Given the description of an element on the screen output the (x, y) to click on. 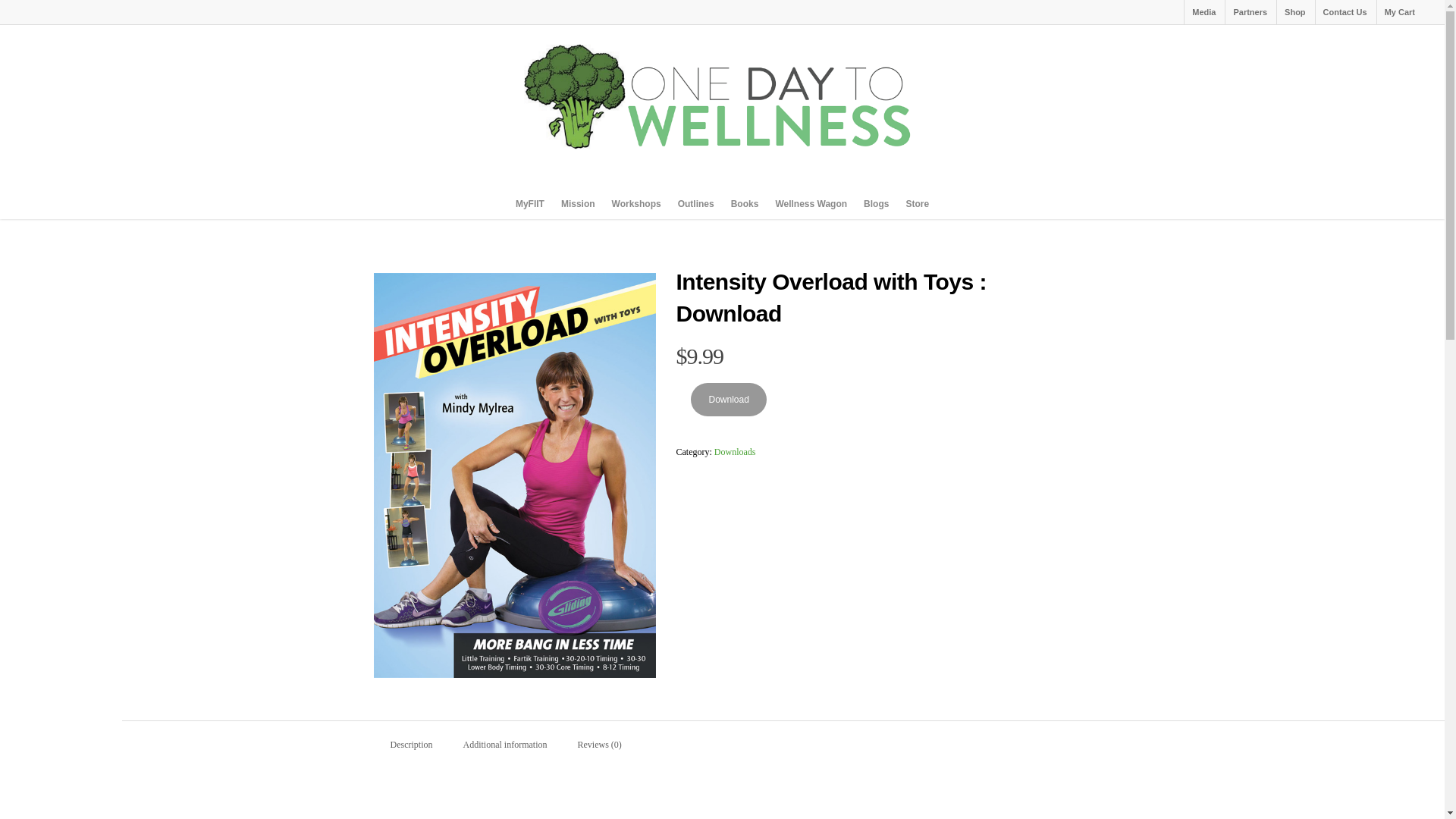
Downloads (734, 451)
Shop (1294, 12)
Additional information (504, 744)
Description (410, 744)
Wellness Wagon (810, 204)
Books (745, 204)
Contact Us (1344, 12)
Partners (1249, 12)
Download (727, 399)
Mission (577, 204)
Outlines (695, 204)
Blogs (876, 204)
Store (917, 204)
Media (1203, 12)
My Cart (1398, 12)
